Given the description of an element on the screen output the (x, y) to click on. 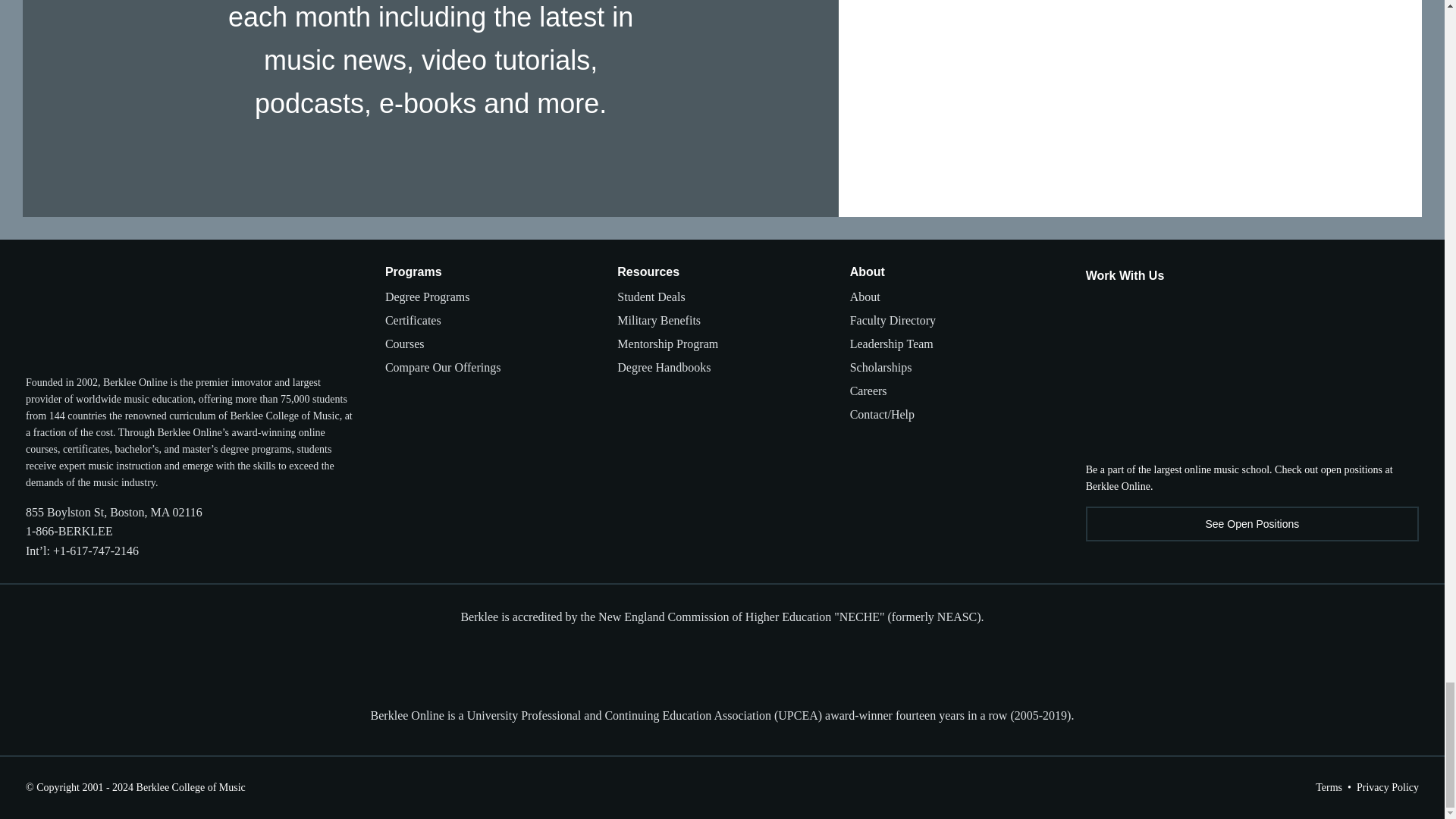
Mentorship Program (667, 344)
Certificates (413, 320)
Degree Programs (427, 296)
Courses (405, 344)
Student Deals (650, 296)
Military Benefits (658, 320)
Compare Our Offerings (442, 367)
